Given the description of an element on the screen output the (x, y) to click on. 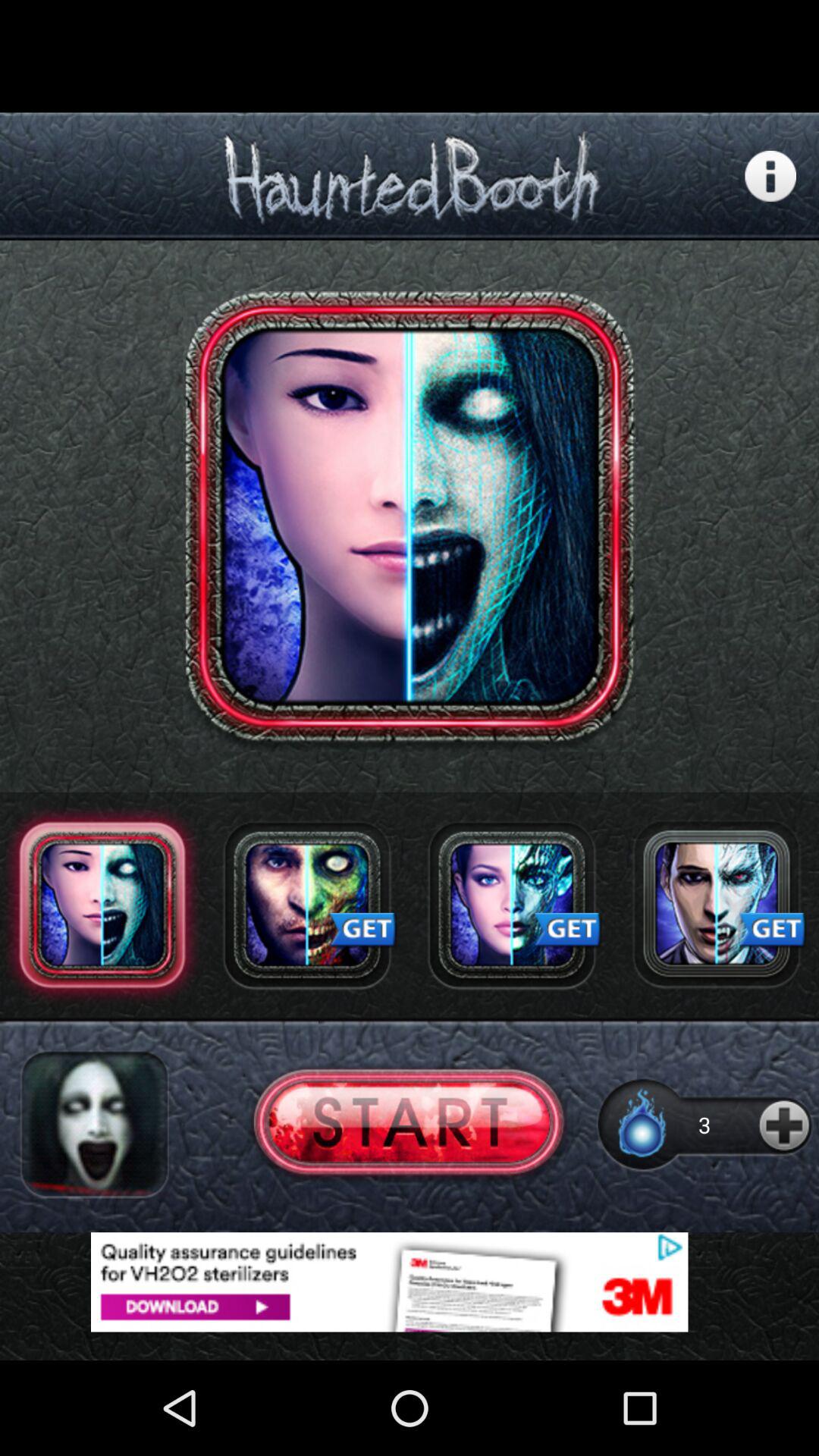
get avatar (716, 904)
